Given the description of an element on the screen output the (x, y) to click on. 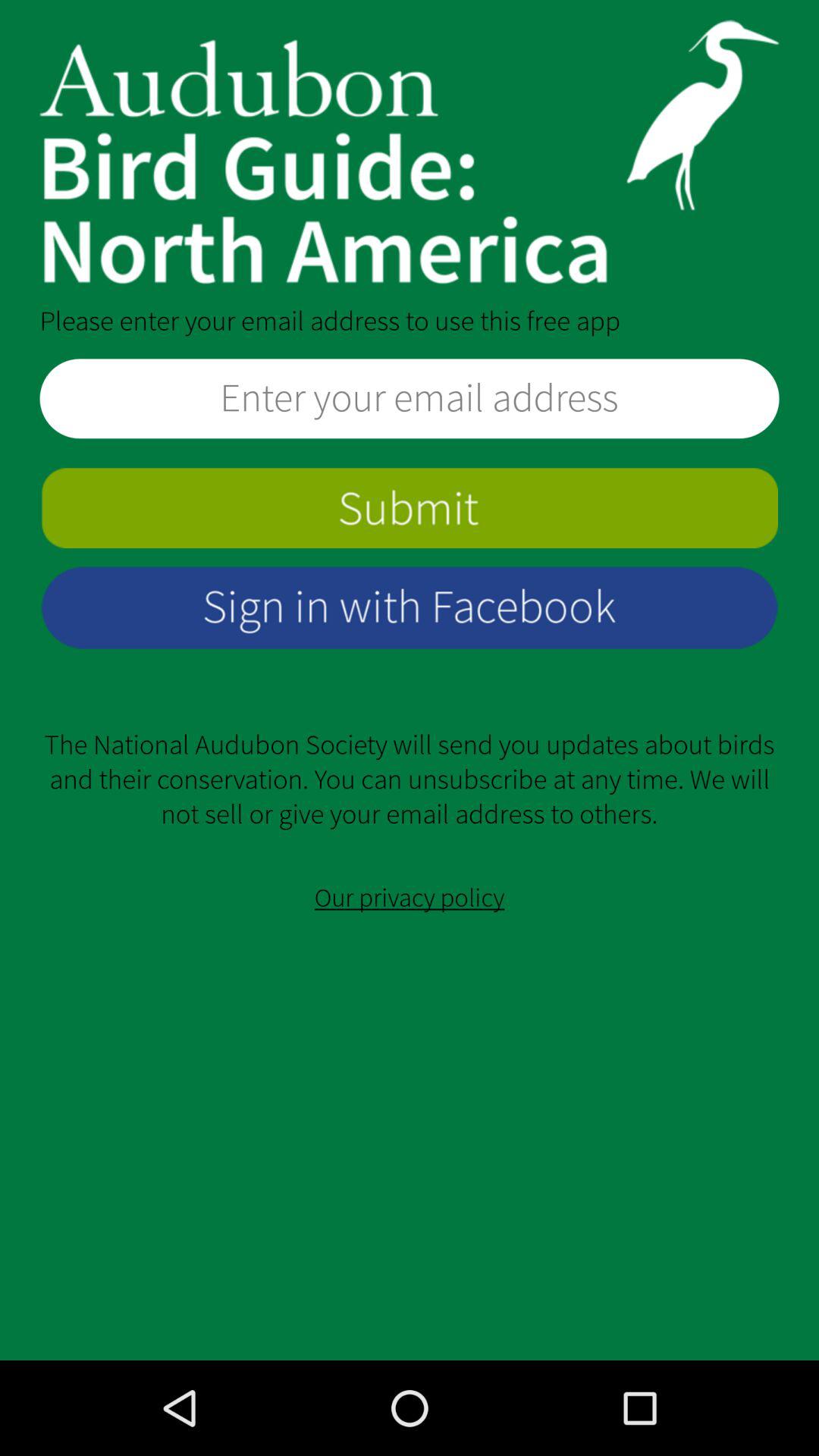
sign in with facebook (409, 607)
